Given the description of an element on the screen output the (x, y) to click on. 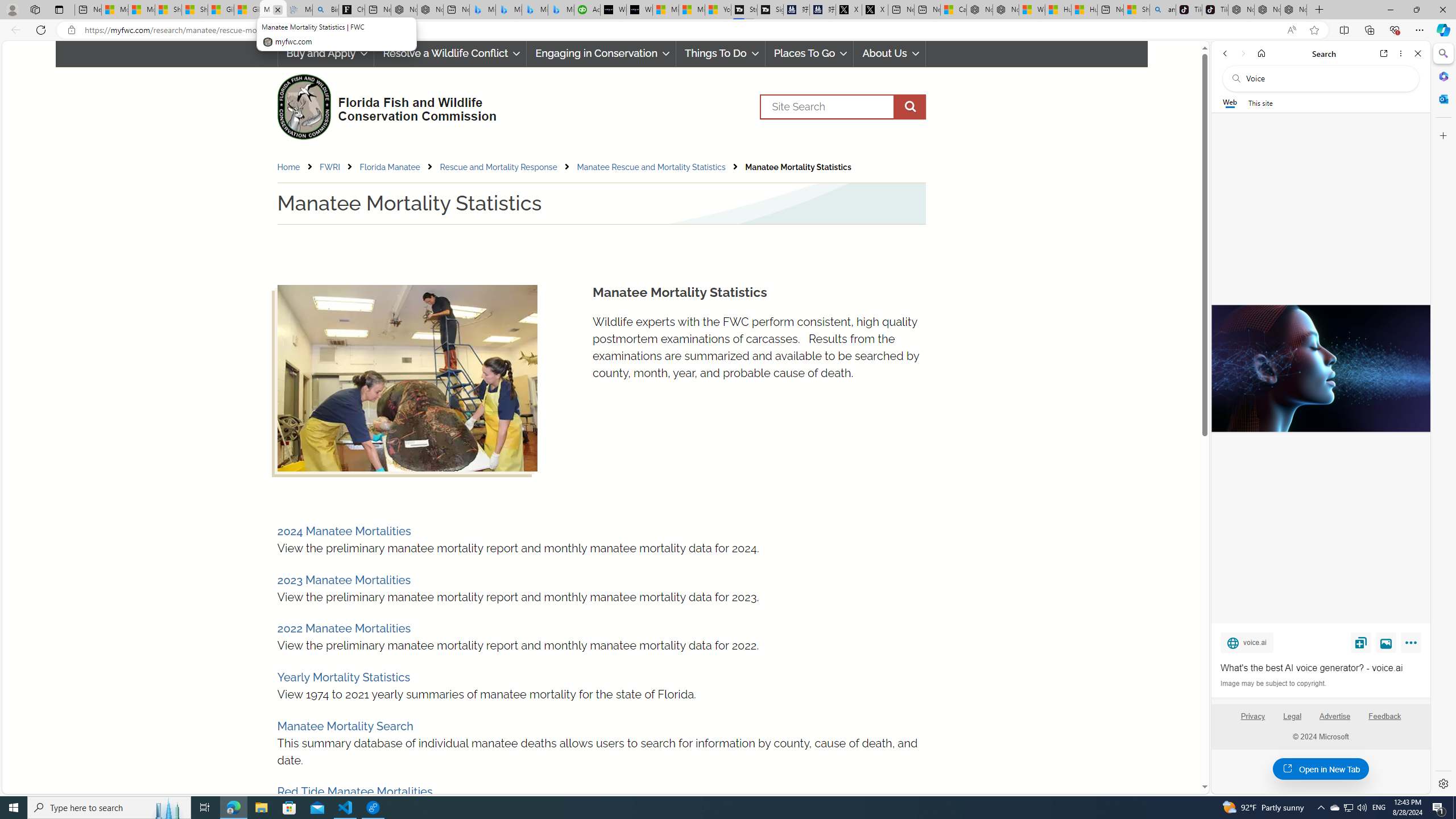
FWRI (339, 166)
What's the best AI voice generator? - voice.ai (1320, 667)
Close tab (277, 9)
FWRI (330, 166)
FWC Logo Florida Fish and Wildlife Conservation Commission (381, 104)
Microsoft 365 (1442, 76)
Florida Manatee (398, 166)
Back (1225, 53)
New tab (1110, 9)
Buy and Apply (326, 53)
What's the best AI voice generator? - voice.ai (1320, 368)
Home (296, 166)
Legal (1292, 720)
amazon - Search (1162, 9)
Search the web (1326, 78)
